Given the description of an element on the screen output the (x, y) to click on. 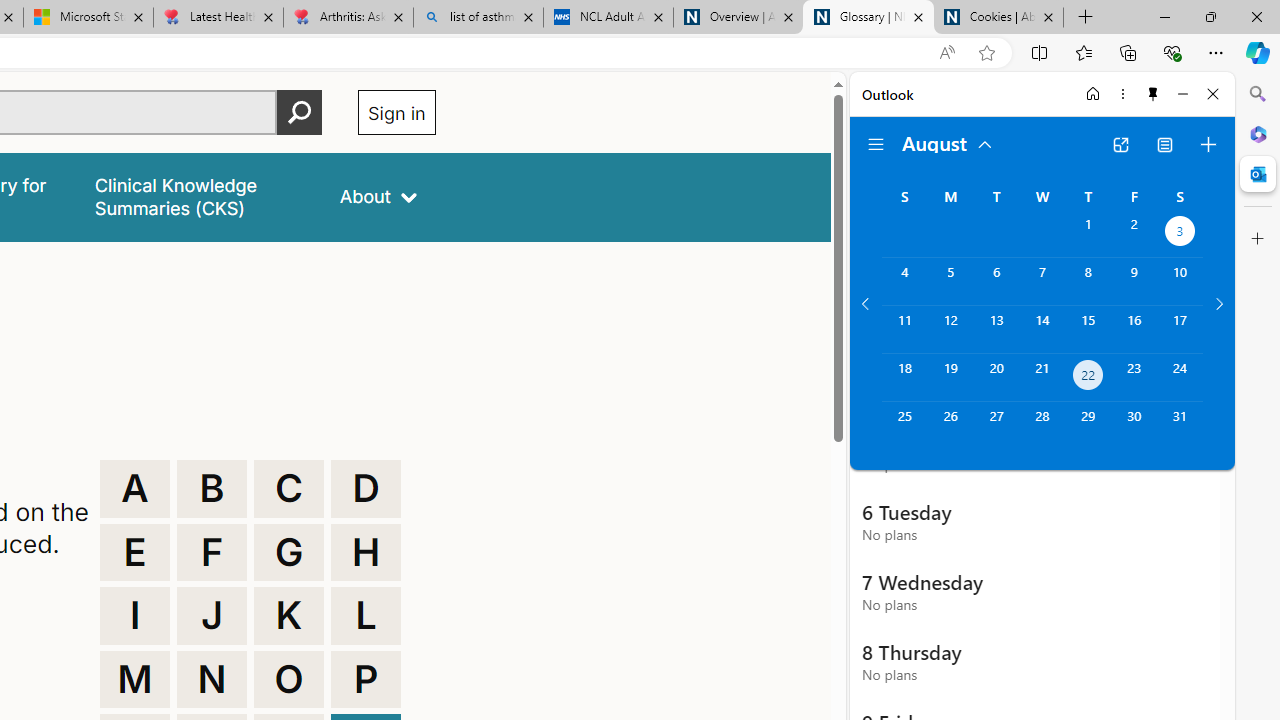
A (134, 488)
O (289, 679)
I (134, 615)
Tuesday, August 6, 2024.  (996, 281)
Saturday, August 24, 2024.  (1180, 377)
D (365, 488)
Friday, August 16, 2024.  (1134, 329)
G (289, 551)
D (365, 488)
Tuesday, August 20, 2024.  (996, 377)
Open in new tab (1120, 144)
